Given the description of an element on the screen output the (x, y) to click on. 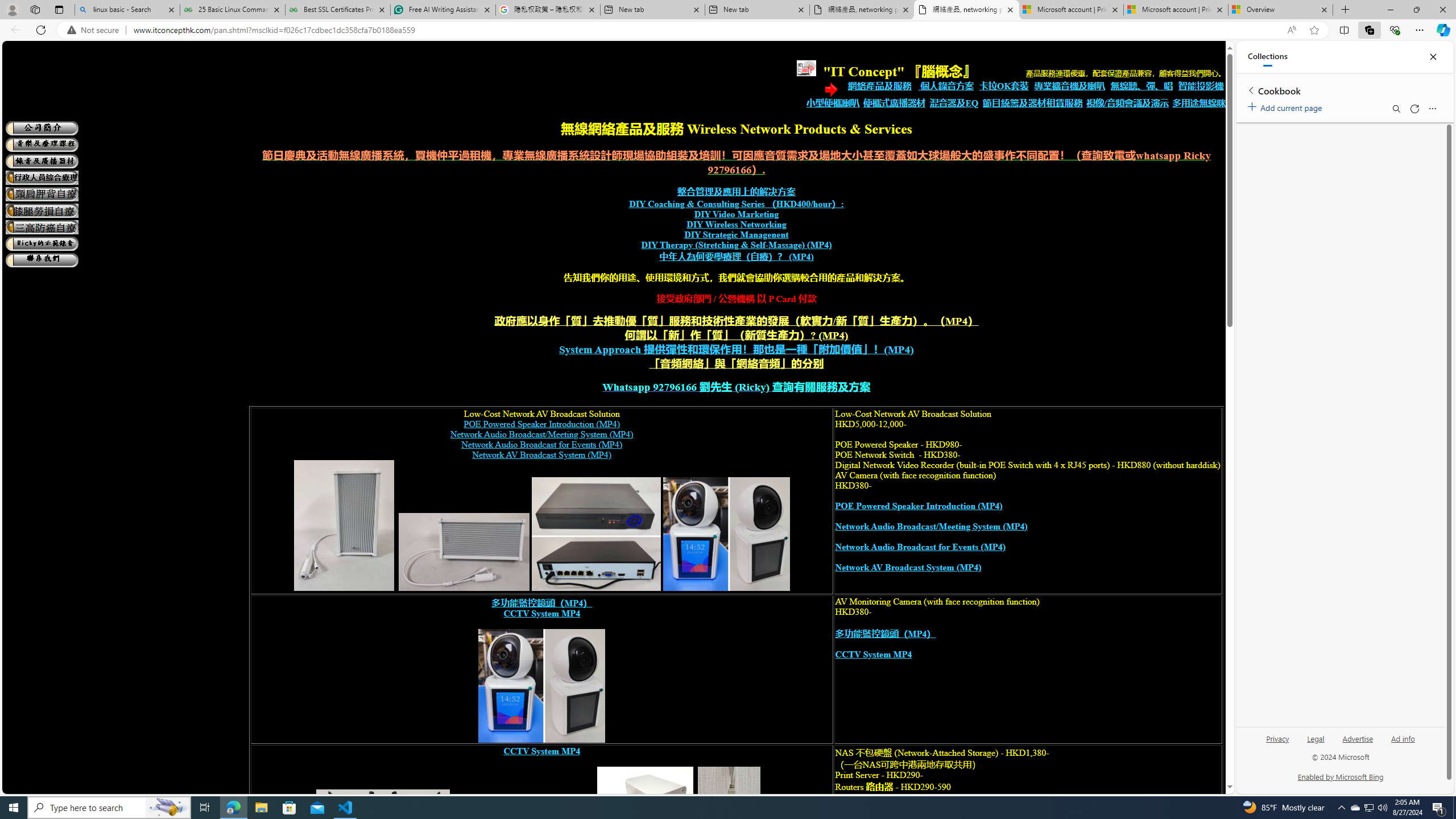
Overview (1280, 9)
Free AI Writing Assistance for Students | Grammarly (442, 9)
